Given the description of an element on the screen output the (x, y) to click on. 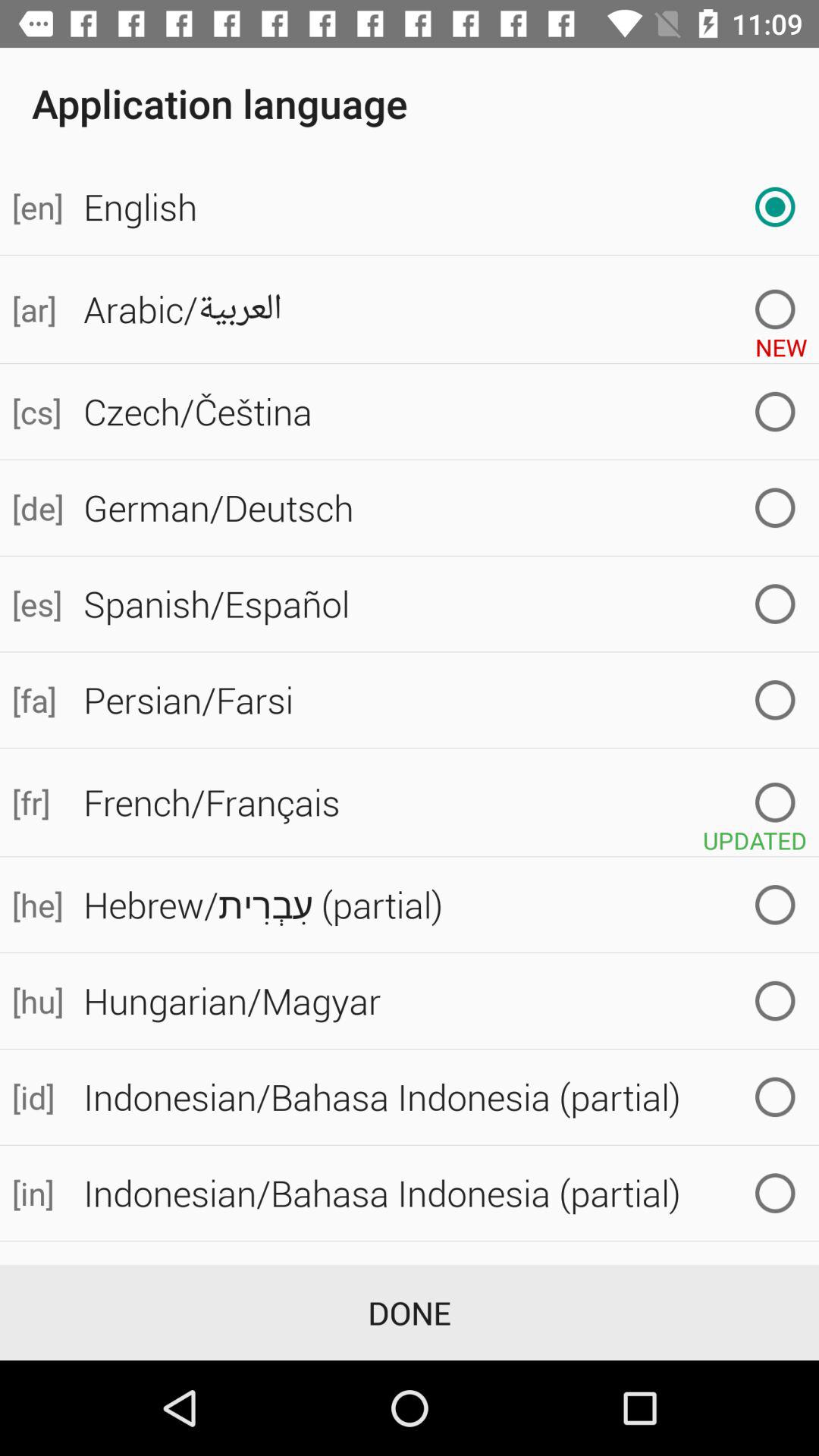
turn on icon to the left of hungarian/magyar icon (35, 1000)
